Given the description of an element on the screen output the (x, y) to click on. 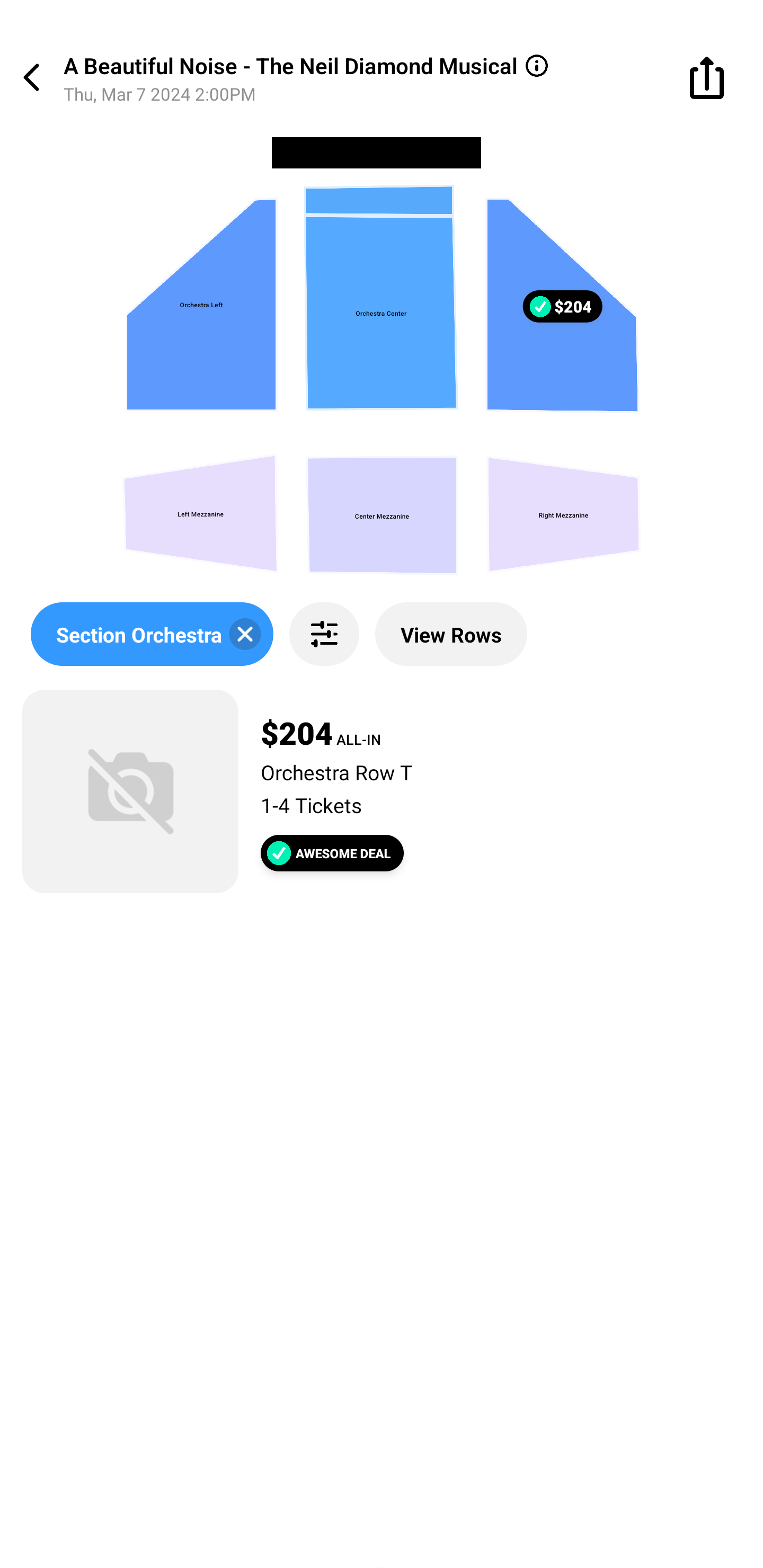
$204 (539, 306)
Section Orchestra (151, 634)
View Rows (451, 634)
AWESOME DEAL (331, 852)
